Given the description of an element on the screen output the (x, y) to click on. 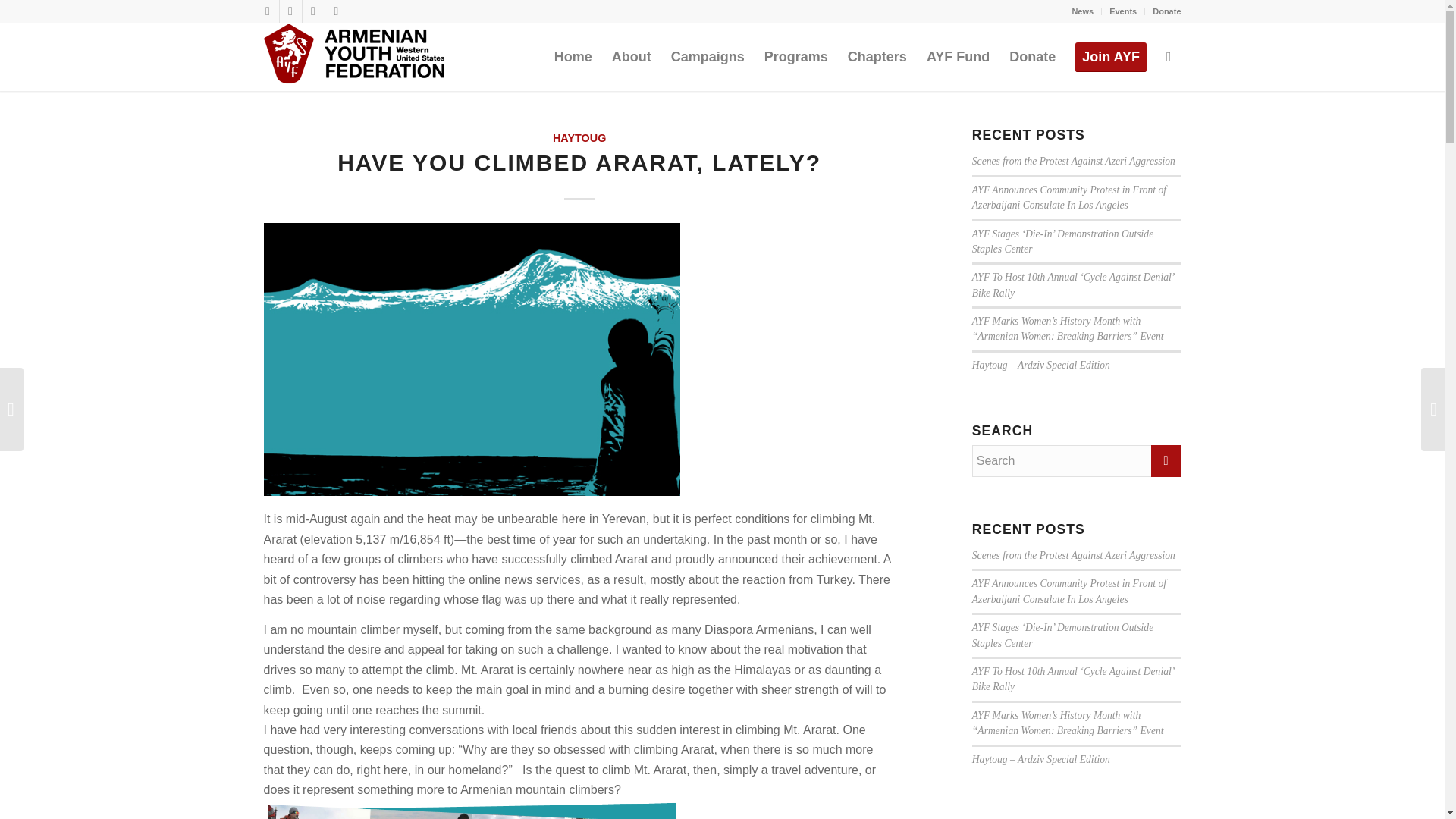
Permanent Link: Have You Climbed Ararat, Lately? (579, 162)
HAYTOUG (579, 137)
Donate (1031, 56)
Programs (796, 56)
Events (1123, 11)
AYF Fund (957, 56)
Facebook (267, 11)
News (1082, 11)
Donate (1166, 11)
Screen shot 2010-12-29 at 1.23.21 AM (471, 809)
